Given the description of an element on the screen output the (x, y) to click on. 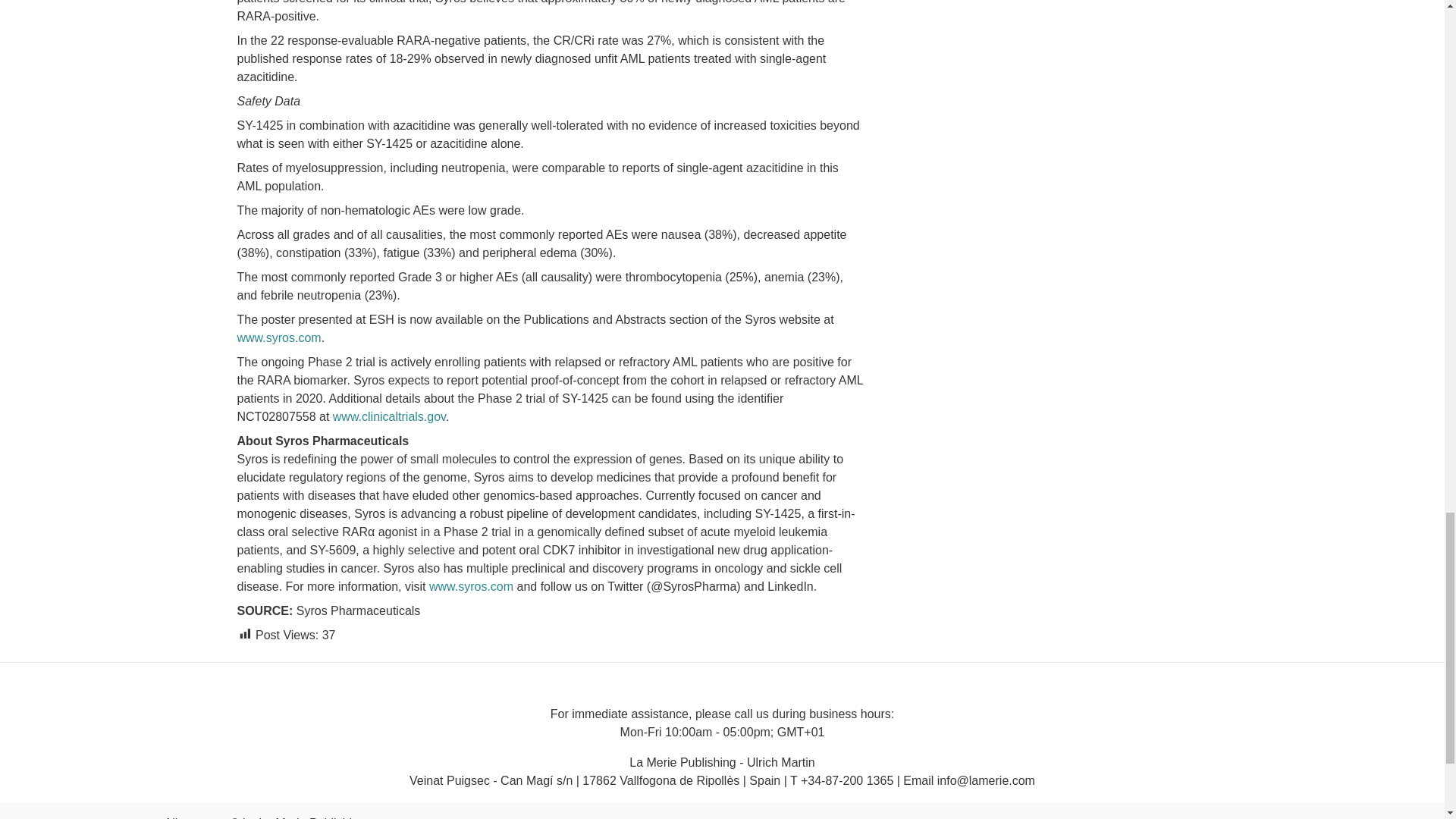
www.syros.com (277, 336)
www.syros.com (471, 585)
www.clinicaltrials.gov (389, 415)
